Given the description of an element on the screen output the (x, y) to click on. 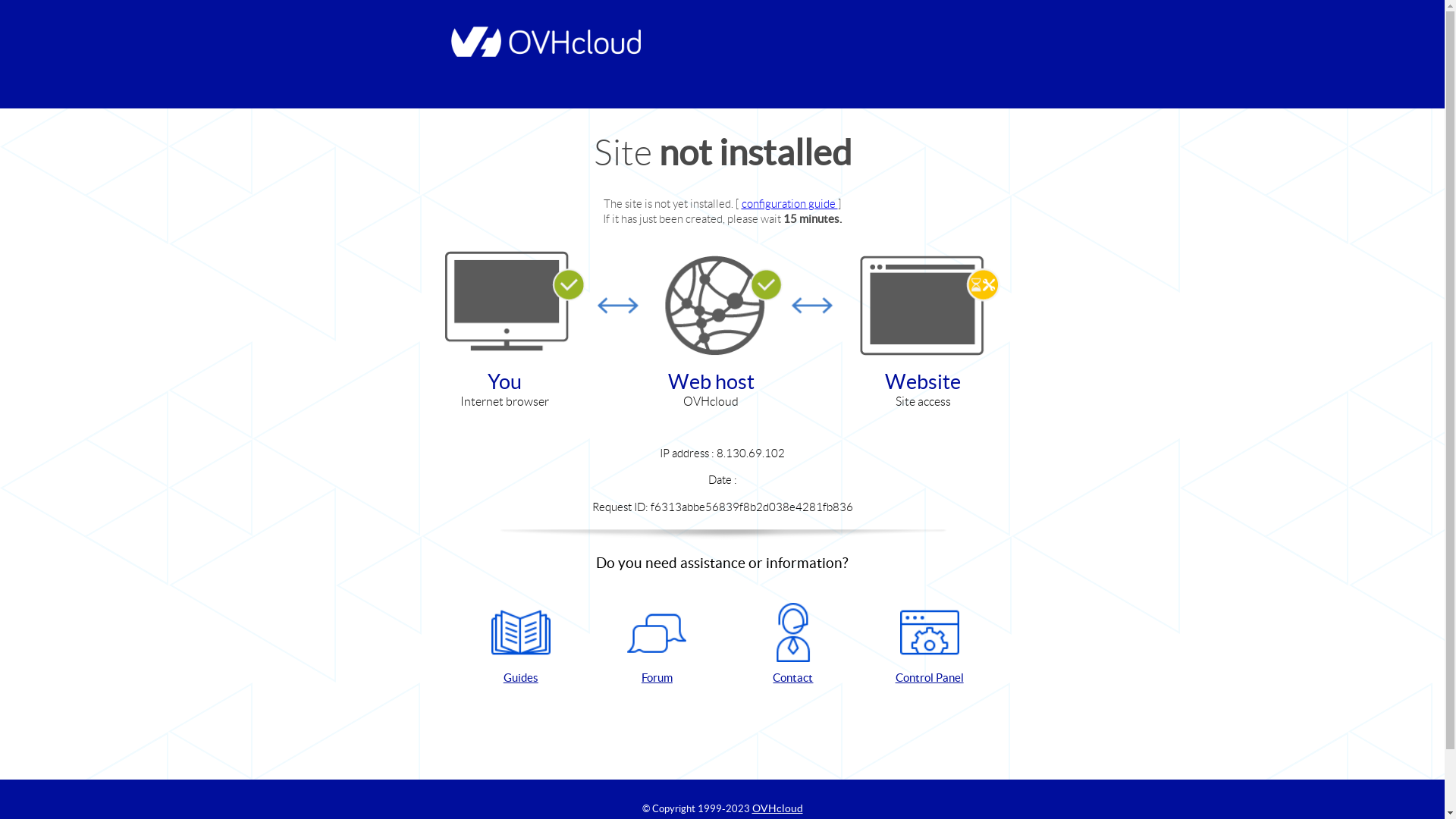
Contact Element type: text (792, 644)
configuration guide Element type: text (789, 203)
OVHcloud Element type: text (777, 808)
Guides Element type: text (520, 644)
Forum Element type: text (656, 644)
Control Panel Element type: text (929, 644)
